Given the description of an element on the screen output the (x, y) to click on. 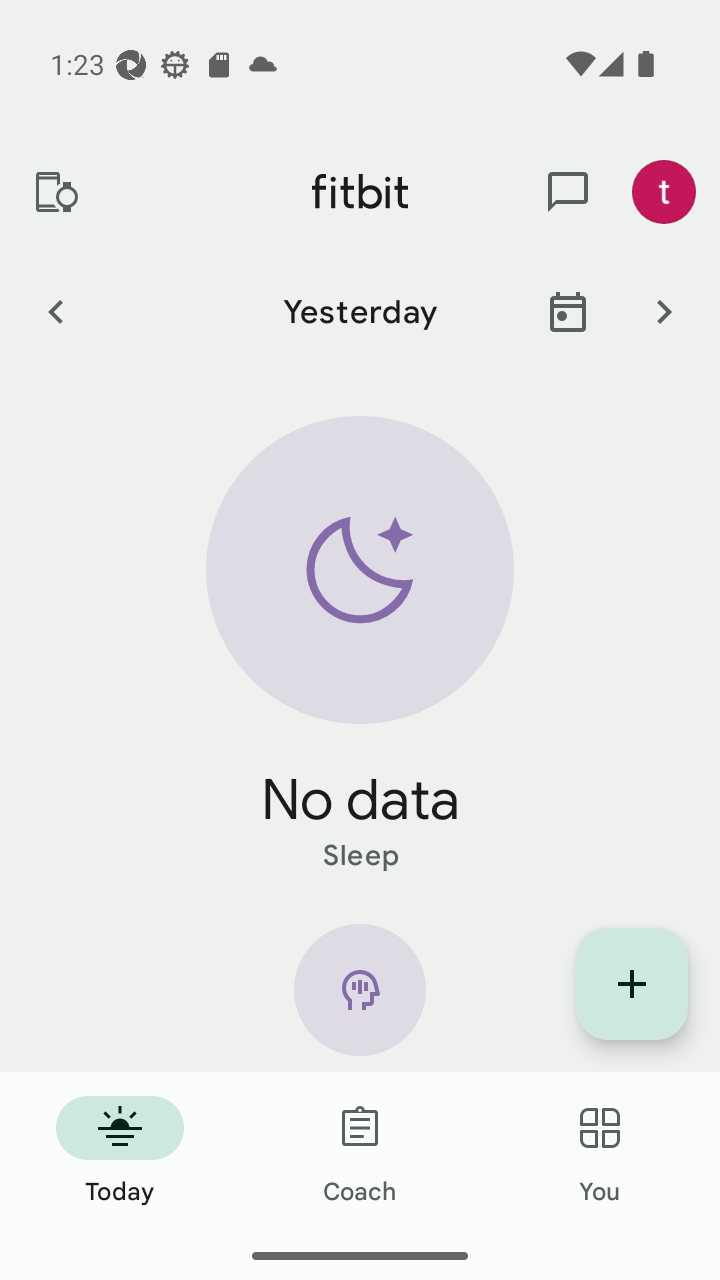
Devices and apps (55, 191)
messages and notifications (567, 191)
Previous Day (55, 311)
Jump to today (567, 311)
Next Day (664, 311)
Sleep static hero arc No data Sleep (359, 645)
Mindfulness icon (360, 998)
Display list of quick log entries (632, 983)
Coach (359, 1151)
You (600, 1151)
